Given the description of an element on the screen output the (x, y) to click on. 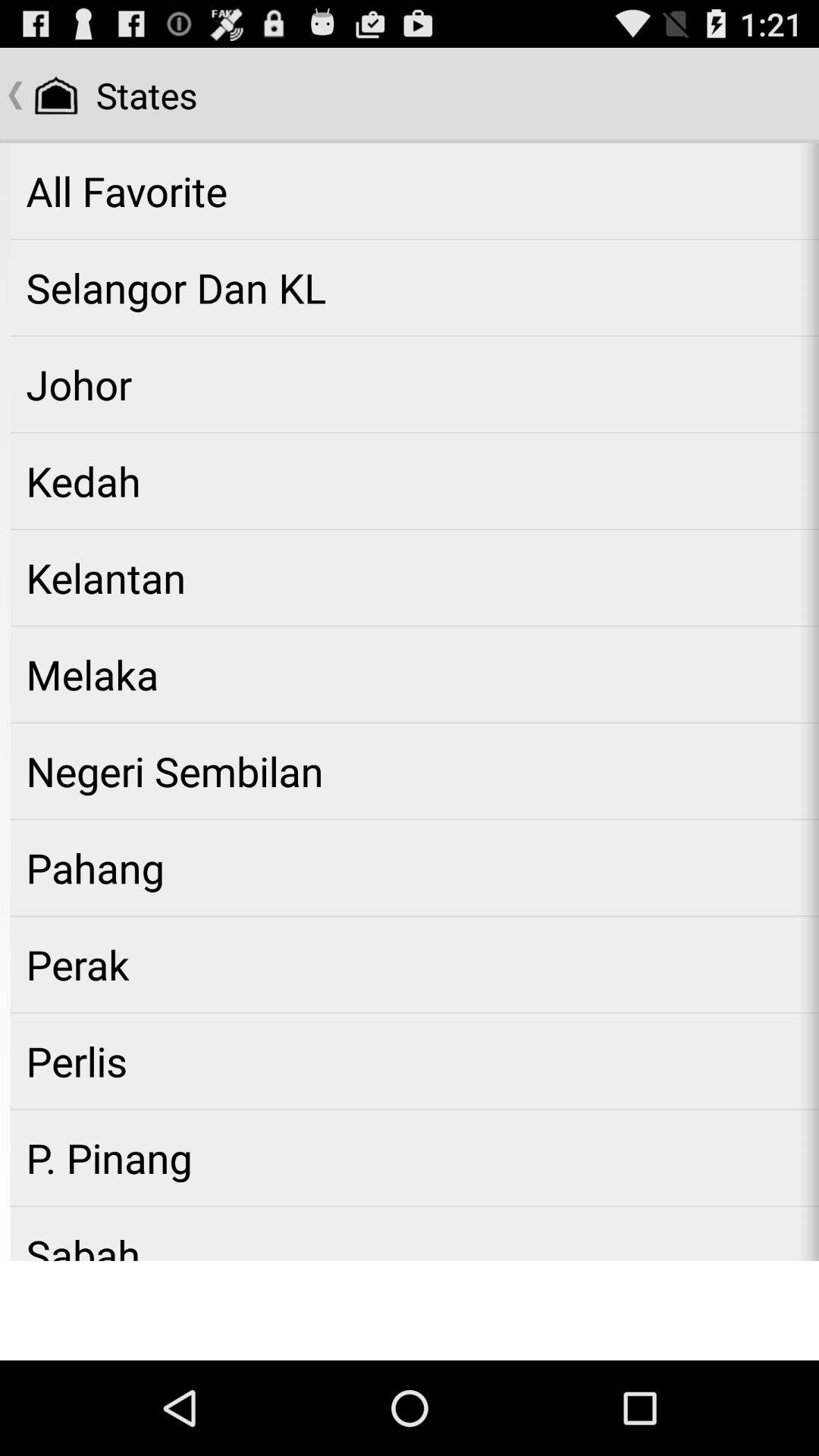
swipe to the kedah app (414, 480)
